Given the description of an element on the screen output the (x, y) to click on. 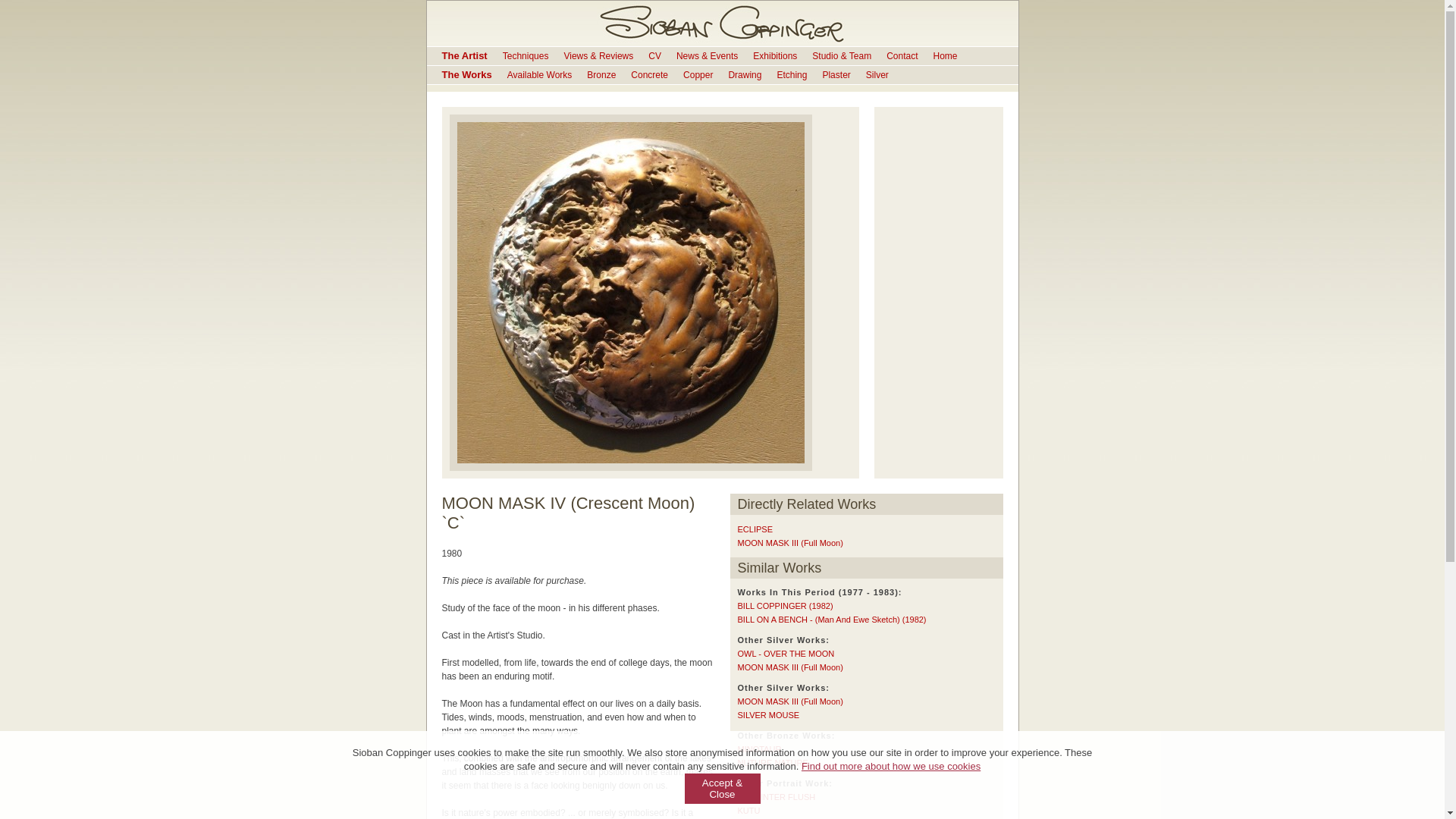
Techniques (525, 55)
Concrete (649, 74)
Bronze (600, 74)
OWL - OVER THE MOON (785, 653)
Available Works (539, 74)
MIDWINTER FLUSH (775, 796)
ECLIPSE (753, 528)
Plaster (836, 74)
Find out more about how we use cookies (890, 766)
SILVER MOUSE (767, 714)
Sioban Coppinger (721, 22)
Contact (901, 55)
NUTURE NATURE (772, 762)
MINOTAUR (758, 748)
CV (654, 55)
